Given the description of an element on the screen output the (x, y) to click on. 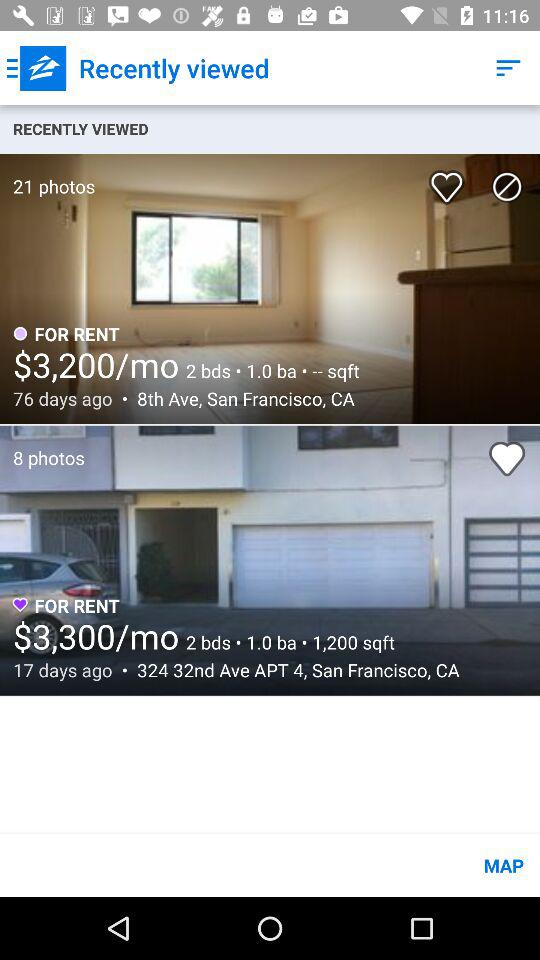
click item below the recently viewed item (47, 176)
